Given the description of an element on the screen output the (x, y) to click on. 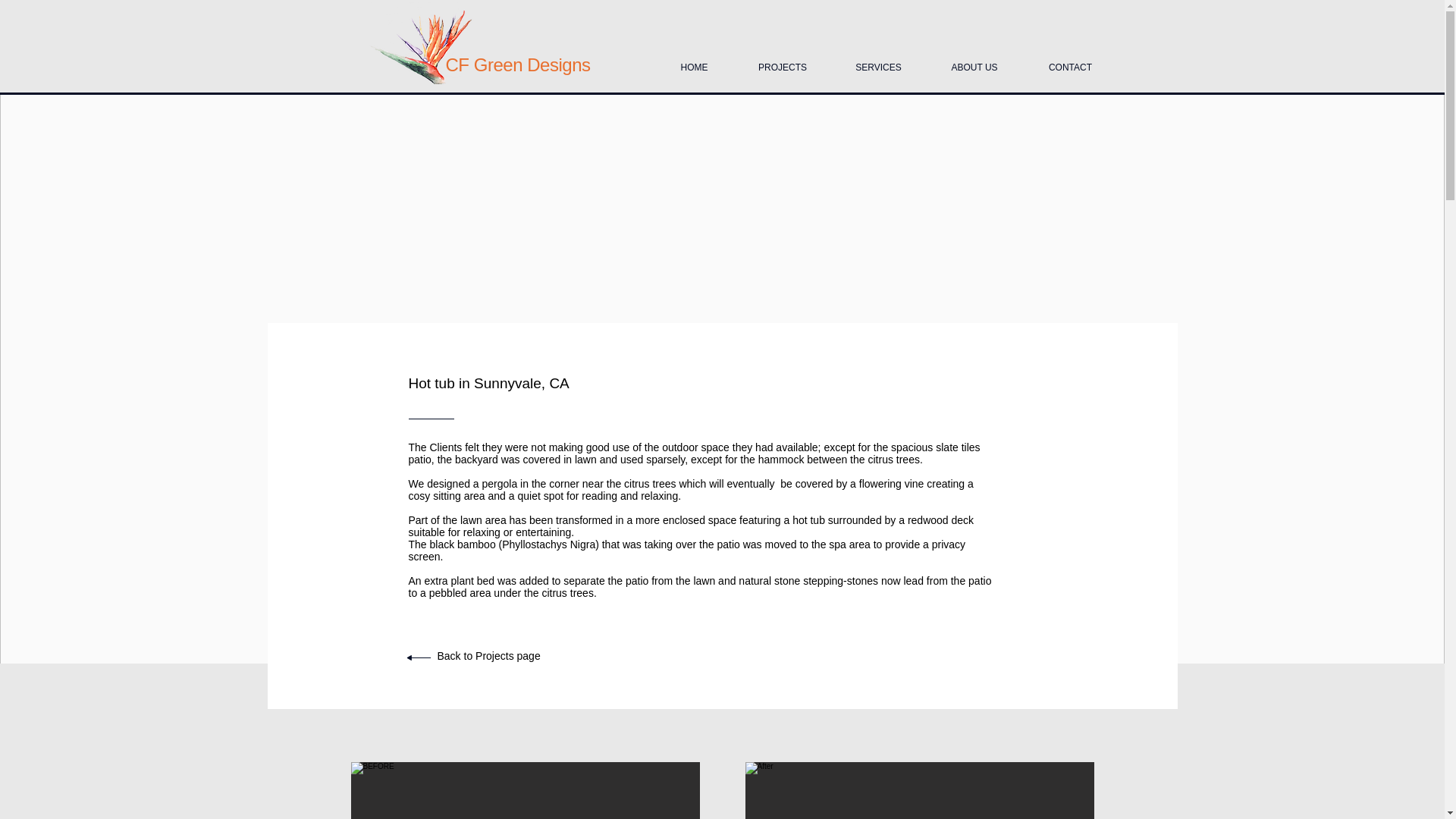
Back to Projects page (488, 655)
CF Green Designs (518, 64)
SERVICES (877, 60)
CONTACT (1070, 60)
PROJECTS (782, 60)
HOME (694, 60)
ABOUT US (973, 60)
